Given the description of an element on the screen output the (x, y) to click on. 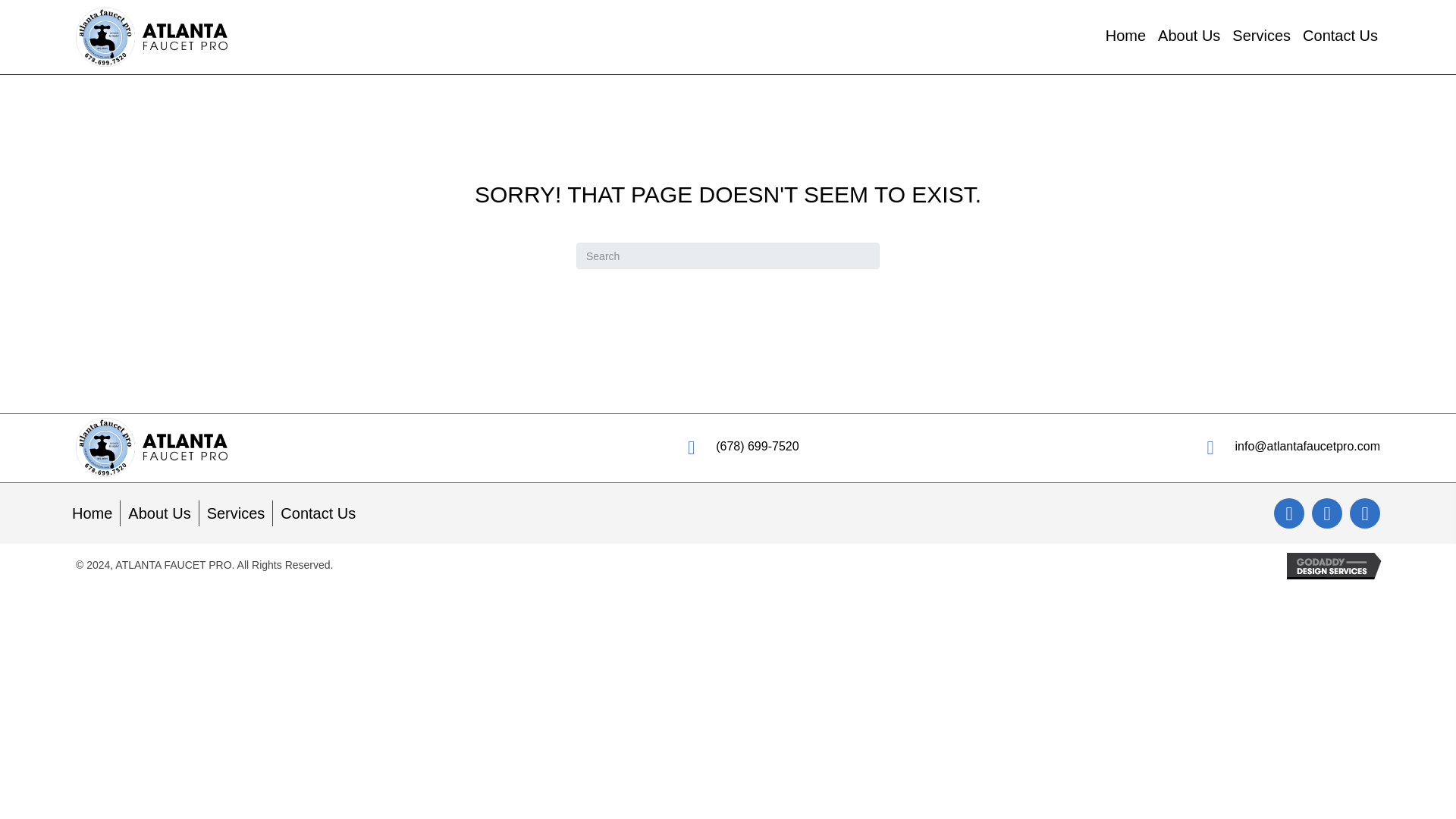
Facebook (1289, 512)
Type and press Enter to search. (727, 255)
Google (1364, 512)
About Us (1188, 37)
Contact Us (317, 513)
Services (236, 513)
About Us (159, 513)
Contact Us (1340, 37)
Services (1260, 37)
Home (91, 513)
